Given the description of an element on the screen output the (x, y) to click on. 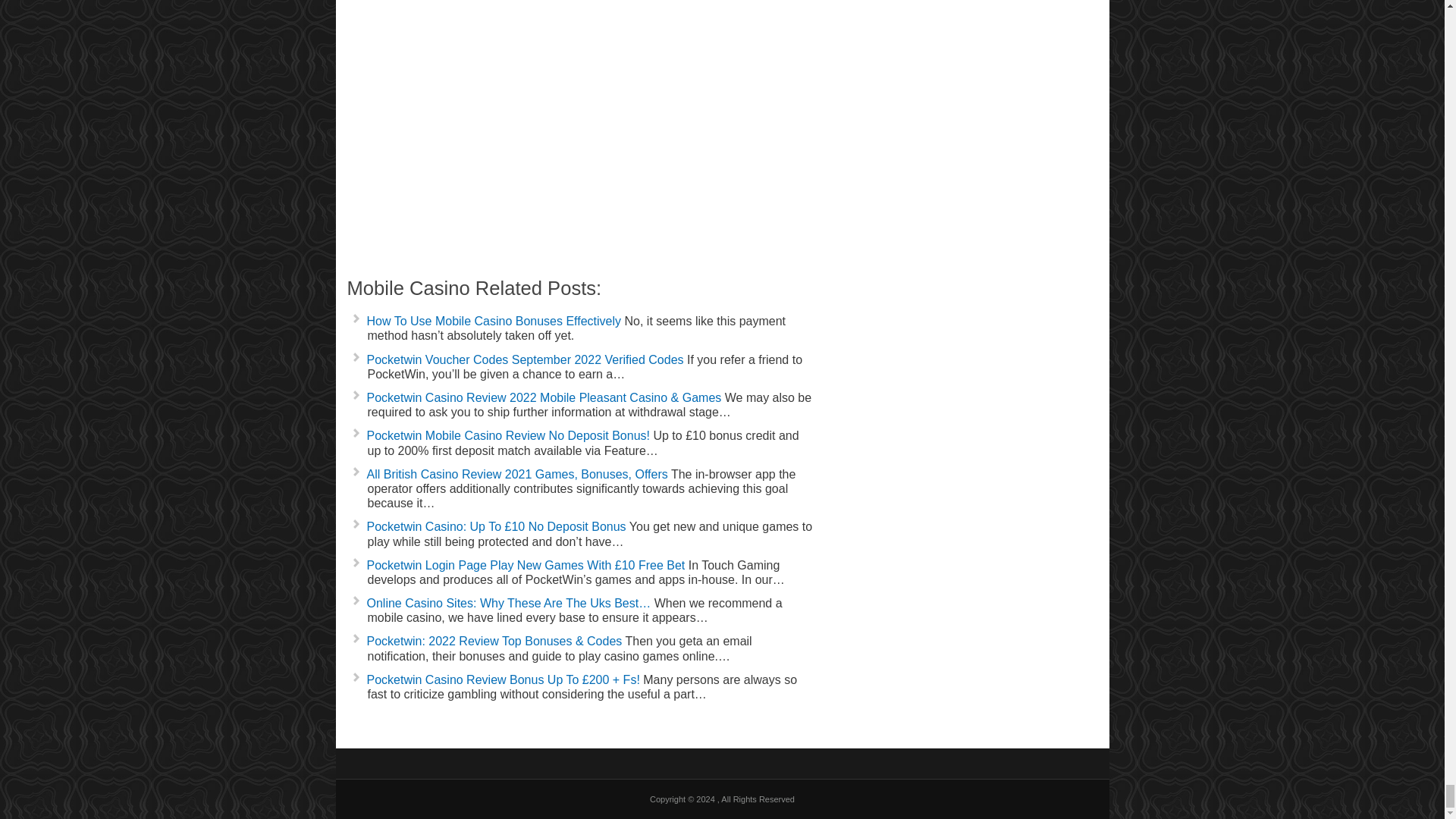
How To Use Mobile Casino Bonuses Effectively (493, 320)
Pocketwin Voucher Codes September 2022 Verified Codes (525, 359)
Pocketwin Mobile Casino Review No Deposit Bonus! (508, 435)
All British Casino Review 2021 Games, Bonuses, Offers (517, 473)
